Given the description of an element on the screen output the (x, y) to click on. 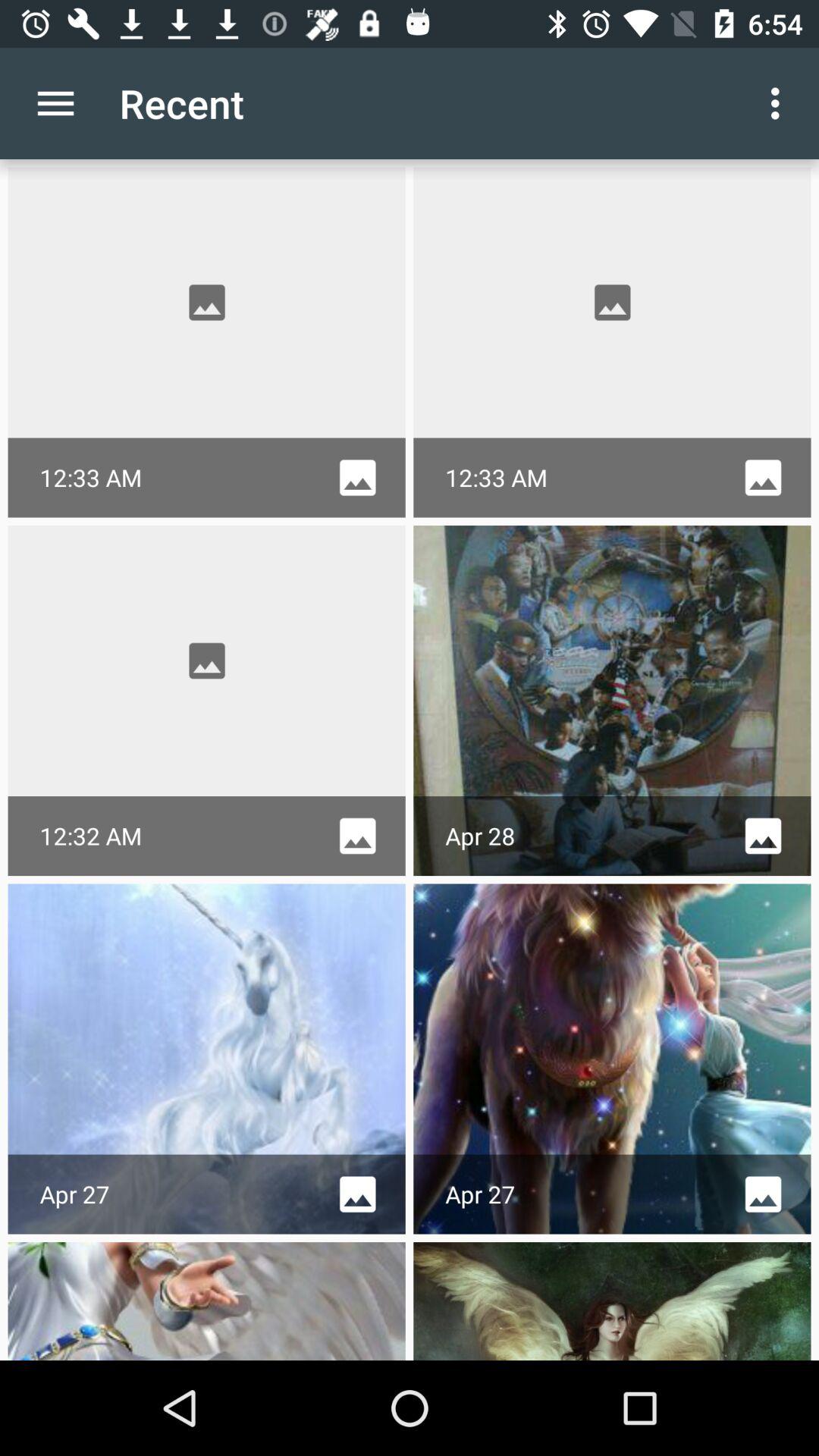
click on the second image in the second row (612, 700)
click on the first image in the second row (206, 660)
click on the second image in the fourth row (612, 1300)
select the first image in third row from left (206, 1058)
click on the image icon below the first pic in first row (357, 478)
click on the three vertical dots on the top right corner of the web page (779, 103)
